Given the description of an element on the screen output the (x, y) to click on. 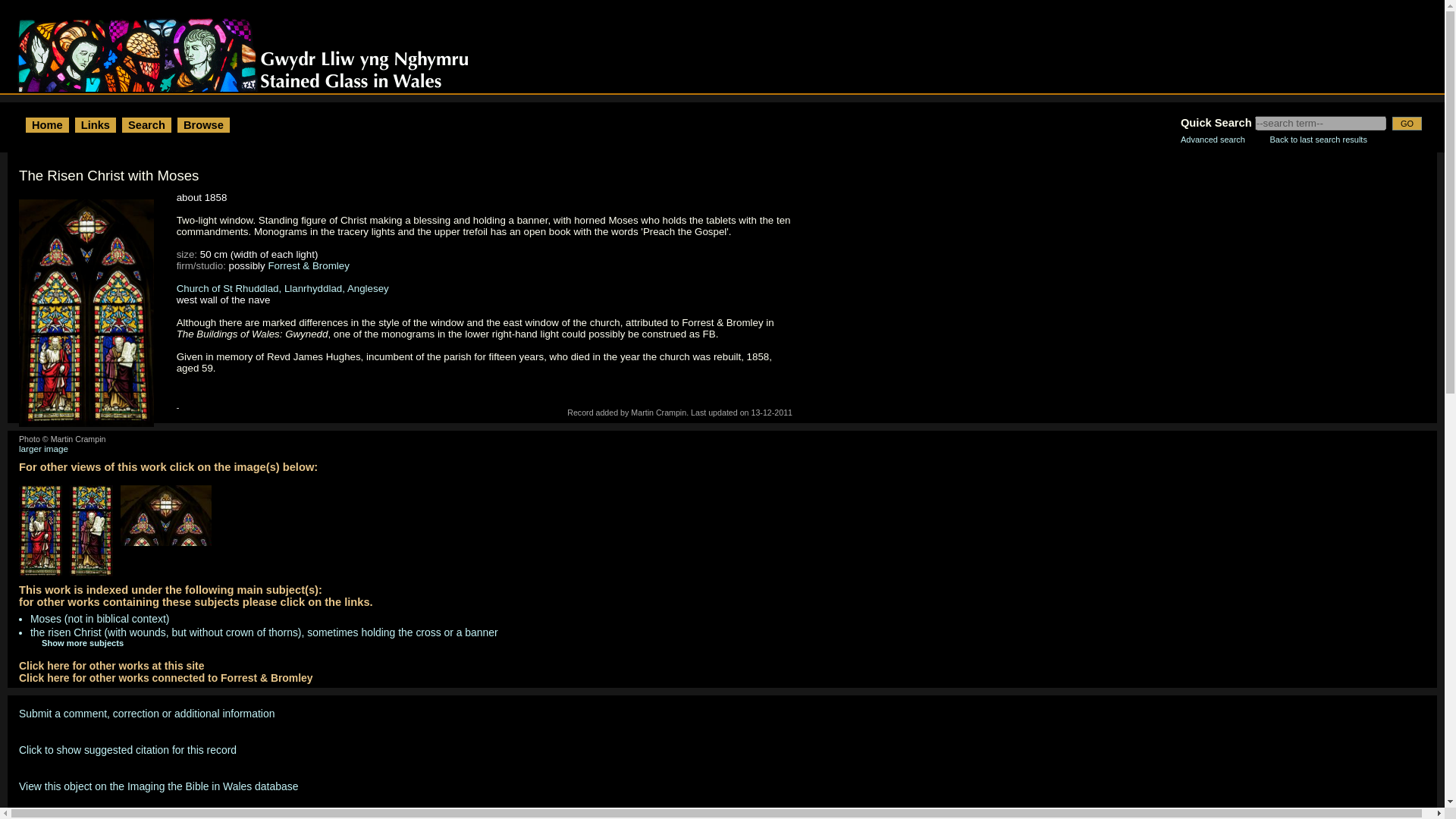
View this object on the Imaging the Bible in Wales database (158, 786)
Show more subjects (70, 642)
Home (47, 124)
Browse (203, 124)
Church of St Rhuddlad, Llanrhyddlad, Anglesey (282, 288)
Submit a comment, correction or additional information (146, 713)
Search (146, 124)
GO (1406, 123)
GO (1406, 123)
Click here for other works at this site (110, 665)
